Given the description of an element on the screen output the (x, y) to click on. 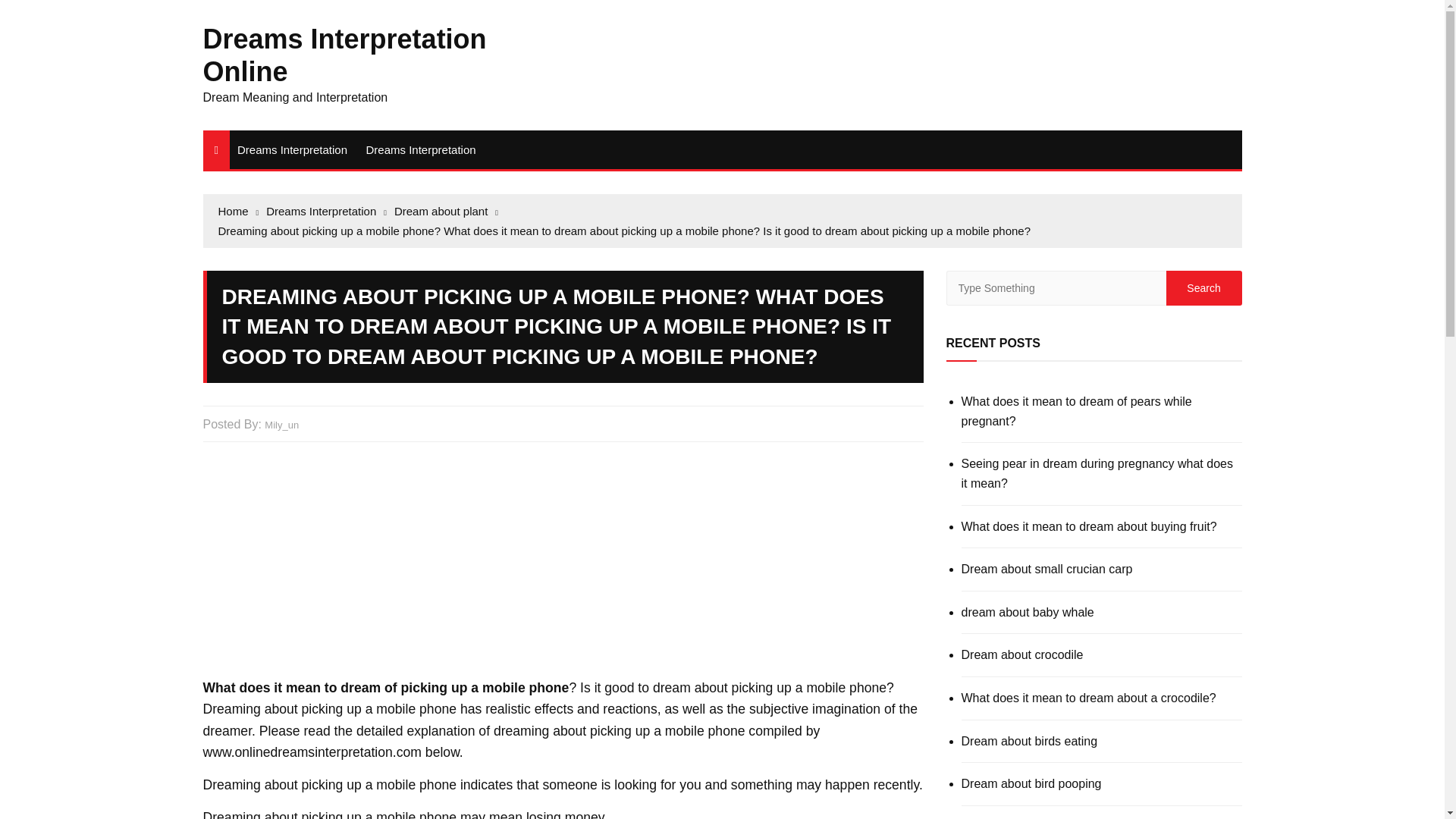
Dreams Interpretation (292, 149)
Dreams Interpretation Online (344, 54)
Dreams Interpretation (420, 149)
Search (1203, 288)
